Given the description of an element on the screen output the (x, y) to click on. 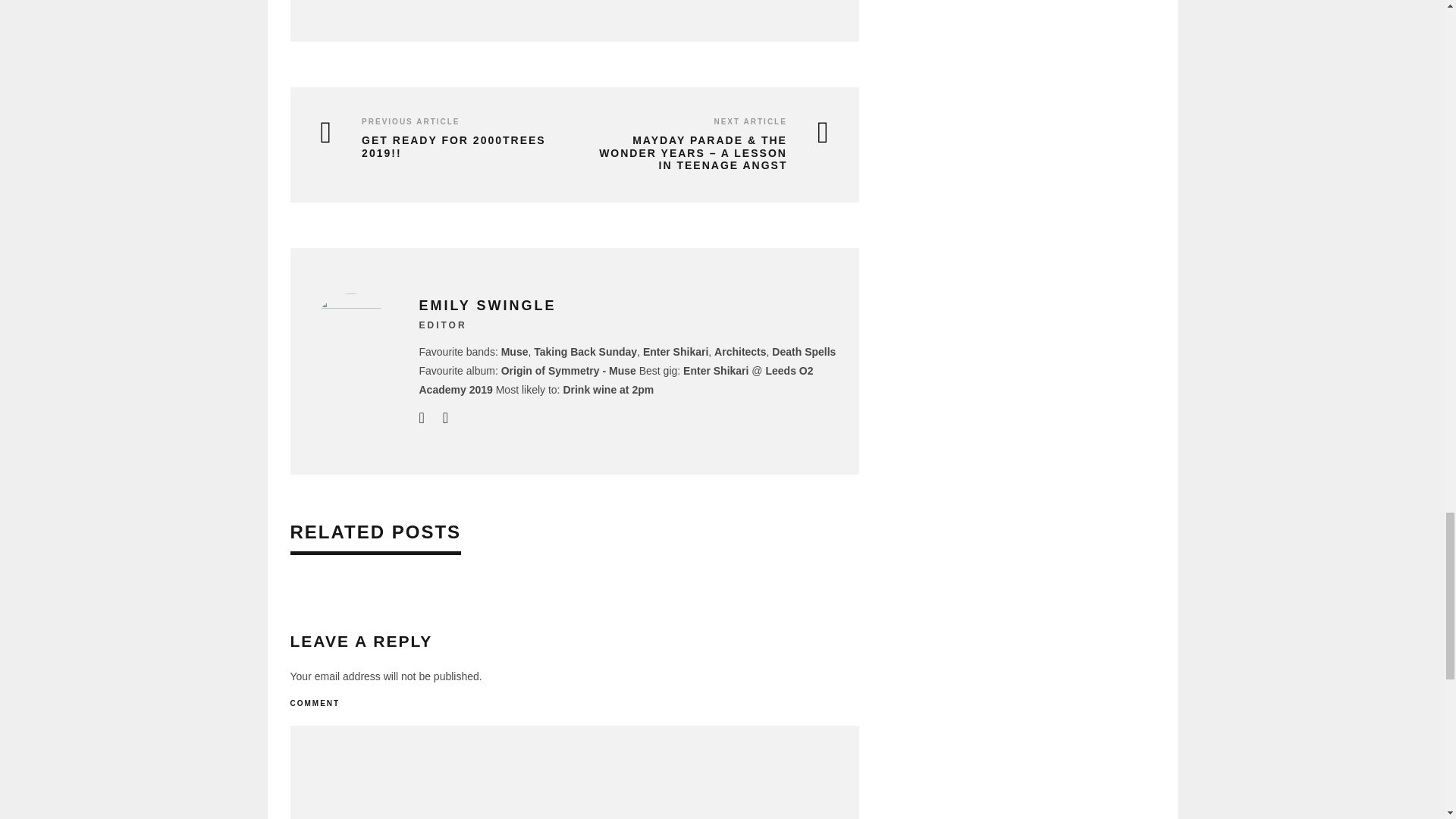
NEXT ARTICLE (749, 121)
GET READY FOR 2000TREES 2019!! (435, 146)
PREVIOUS ARTICLE (410, 121)
